Given the description of an element on the screen output the (x, y) to click on. 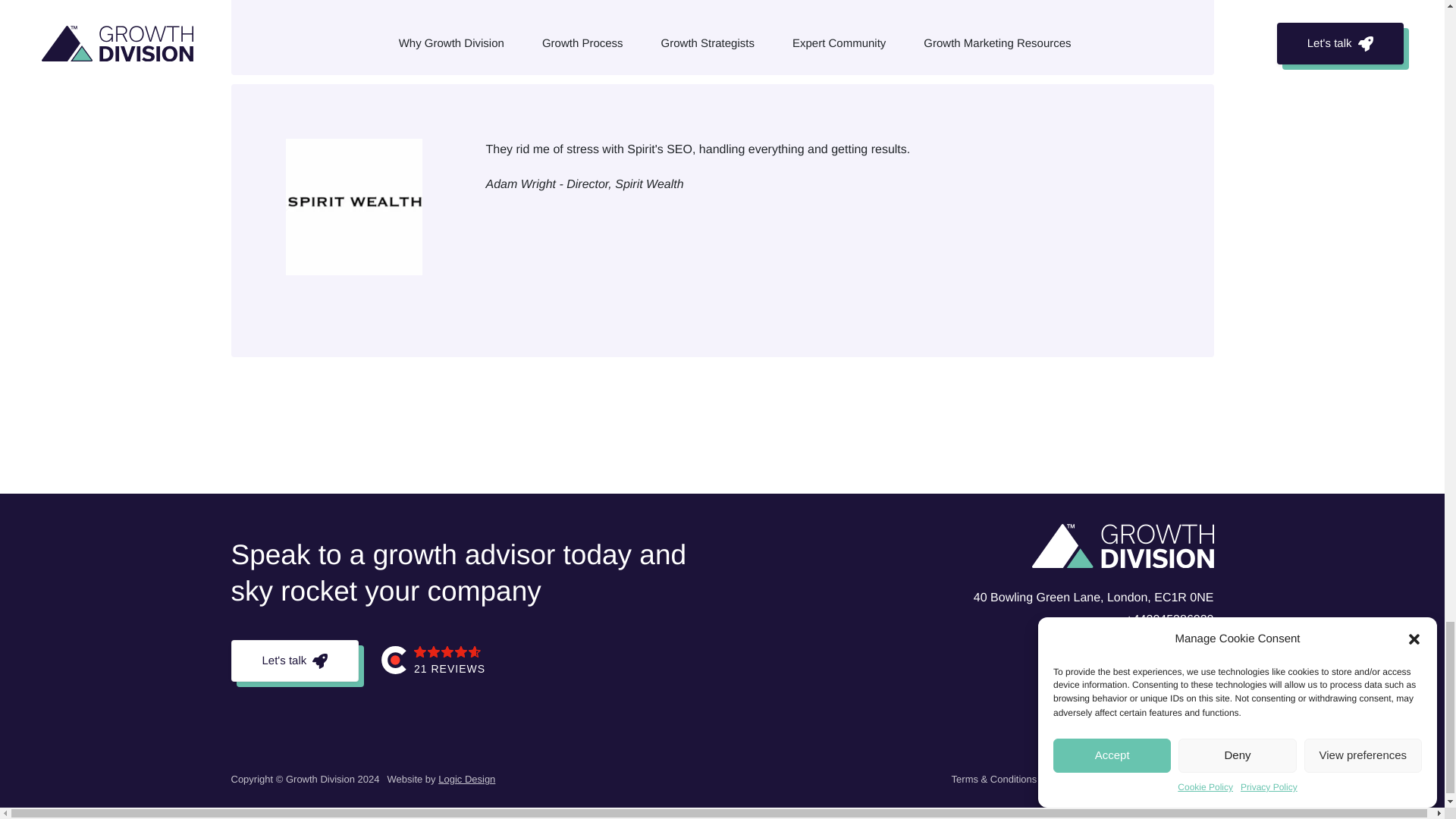
Let's talk (294, 660)
Logic Design (466, 778)
Cookies Policy (1086, 779)
Linkedin (1139, 683)
Join Growth DAO (1174, 779)
